Given the description of an element on the screen output the (x, y) to click on. 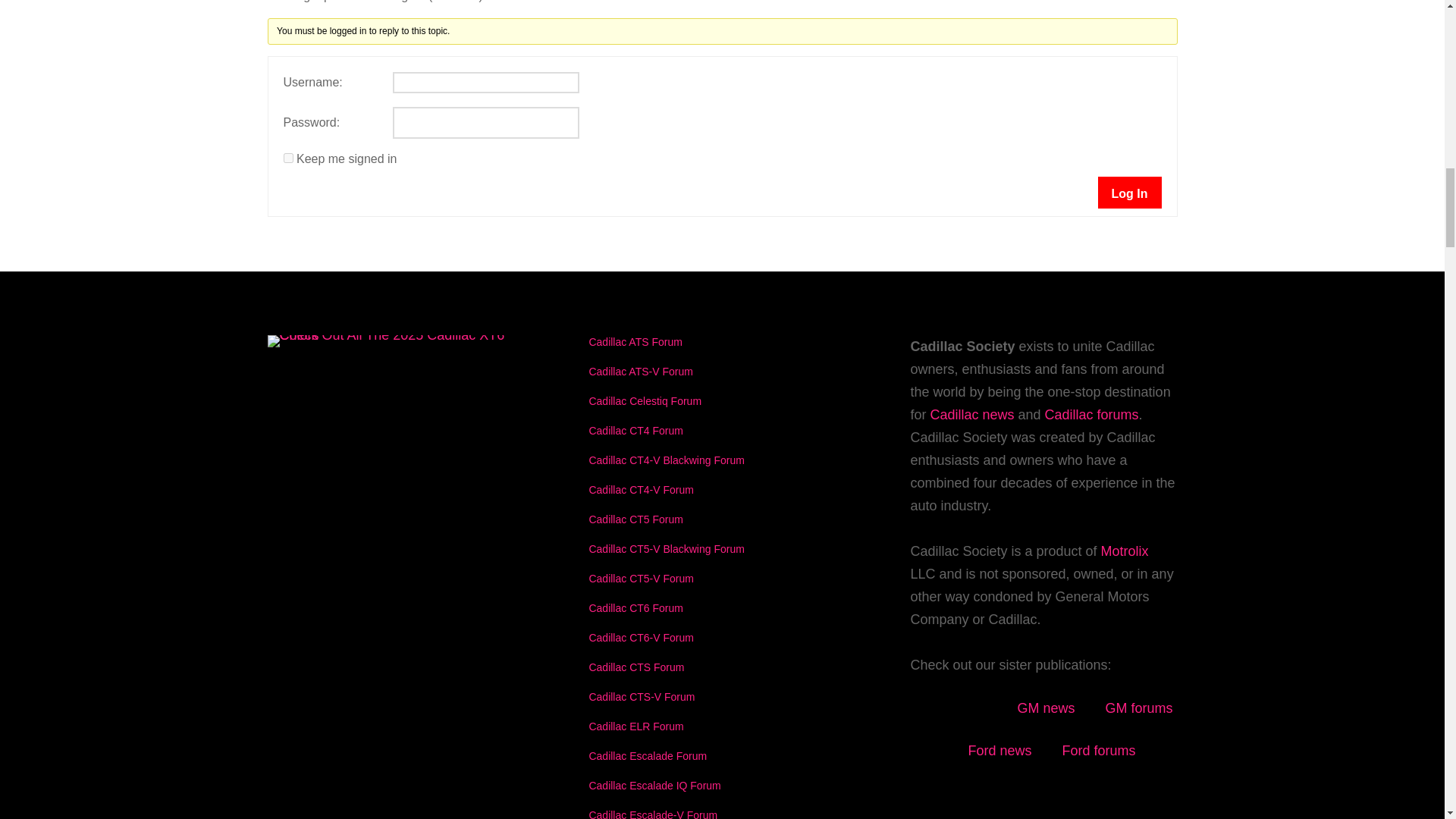
Check Out All The 2025 Cadillac XT6 Colors (394, 335)
forever (288, 157)
